Given the description of an element on the screen output the (x, y) to click on. 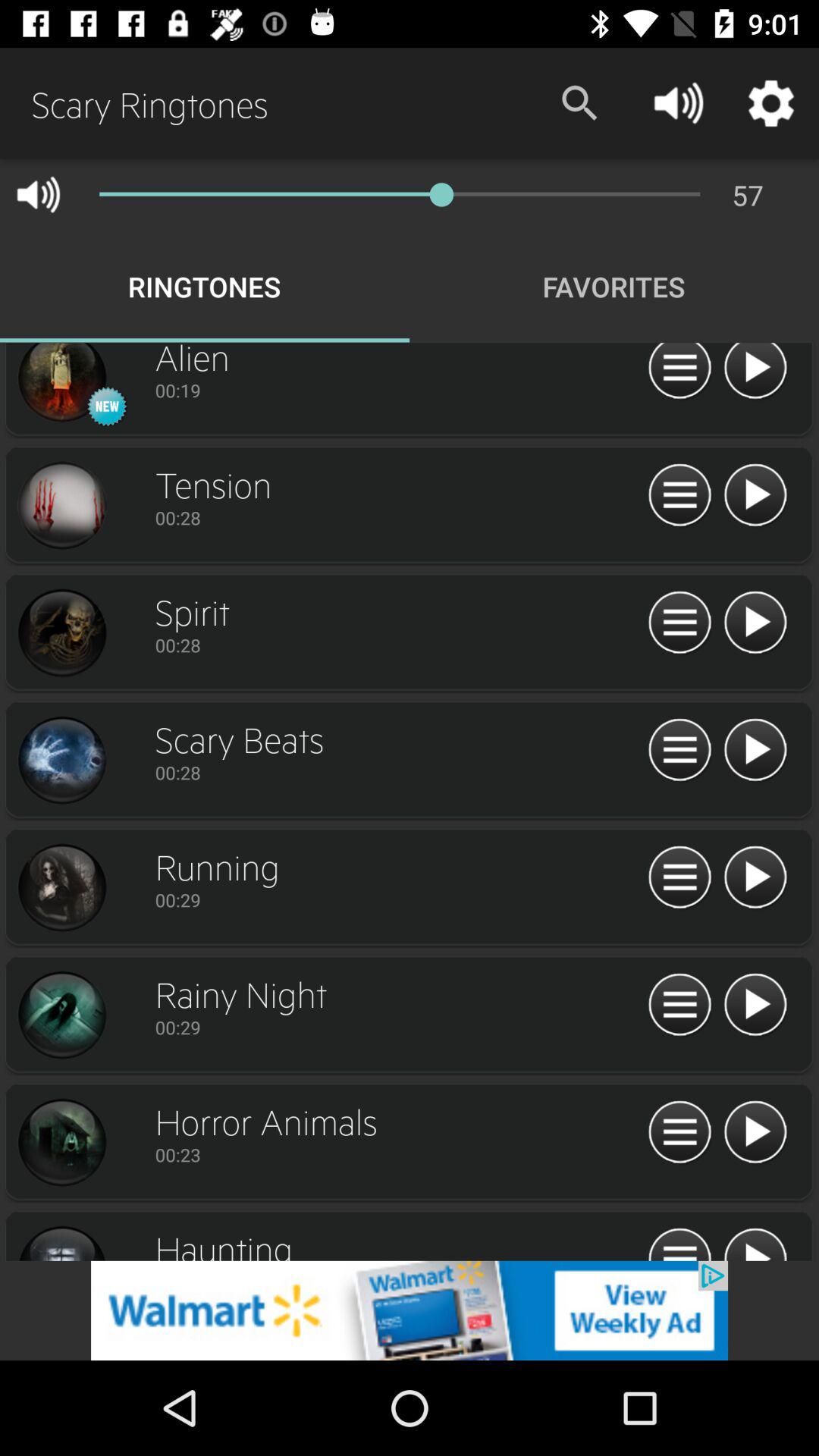
open menu (679, 1132)
